Given the description of an element on the screen output the (x, y) to click on. 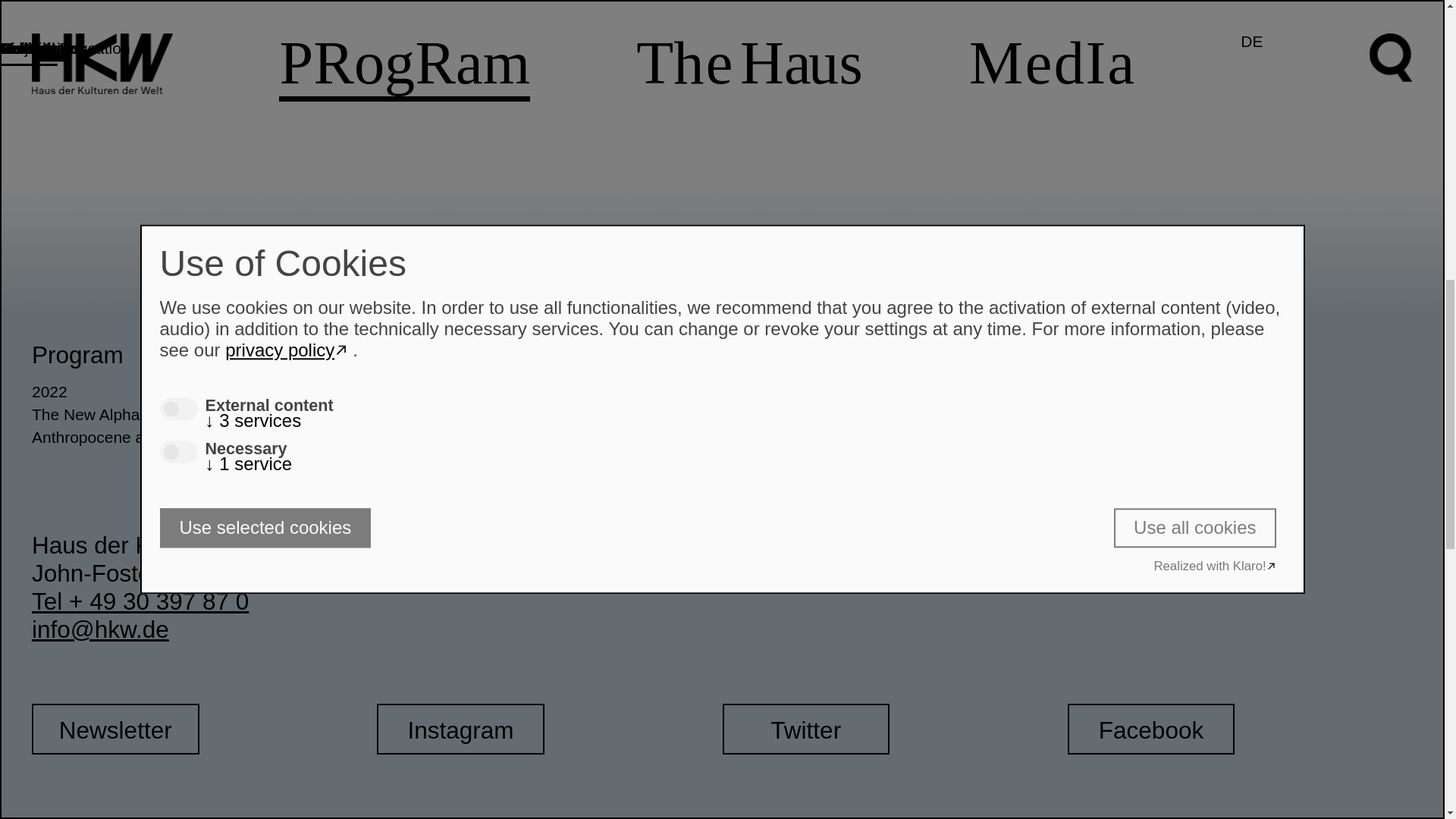
Privacy Policy (1129, 436)
Visit (744, 354)
About Us (549, 391)
The House (435, 354)
Program 2022 (204, 391)
Anthropocene at HKW (204, 436)
Architecture (549, 414)
Team (1239, 414)
The New Alphabet (204, 414)
About This Site (1239, 459)
